Given the description of an element on the screen output the (x, y) to click on. 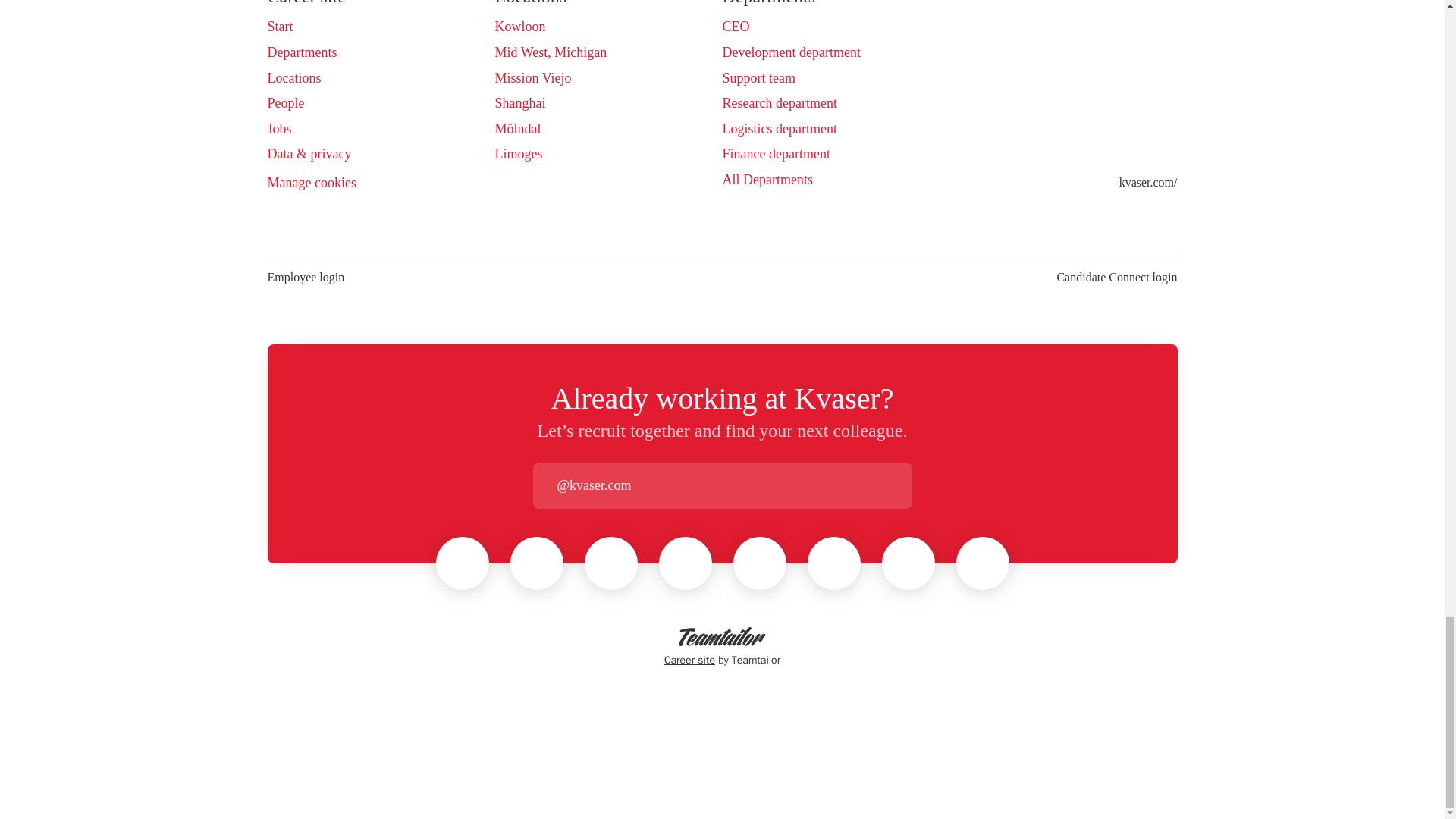
Gunnar Torstensson (685, 563)
People (285, 102)
Justin Ng (982, 563)
CEO (735, 25)
Development department (791, 52)
Shanghai (519, 102)
David Kvist (759, 563)
Limoges (518, 153)
Mid West, Michigan (551, 52)
Manage cookies (310, 182)
Kowloon (519, 25)
Departments (301, 52)
Christoffer Mathiesen  (908, 563)
Jessica Zhao (462, 563)
Vanessa Knivett (834, 563)
